Given the description of an element on the screen output the (x, y) to click on. 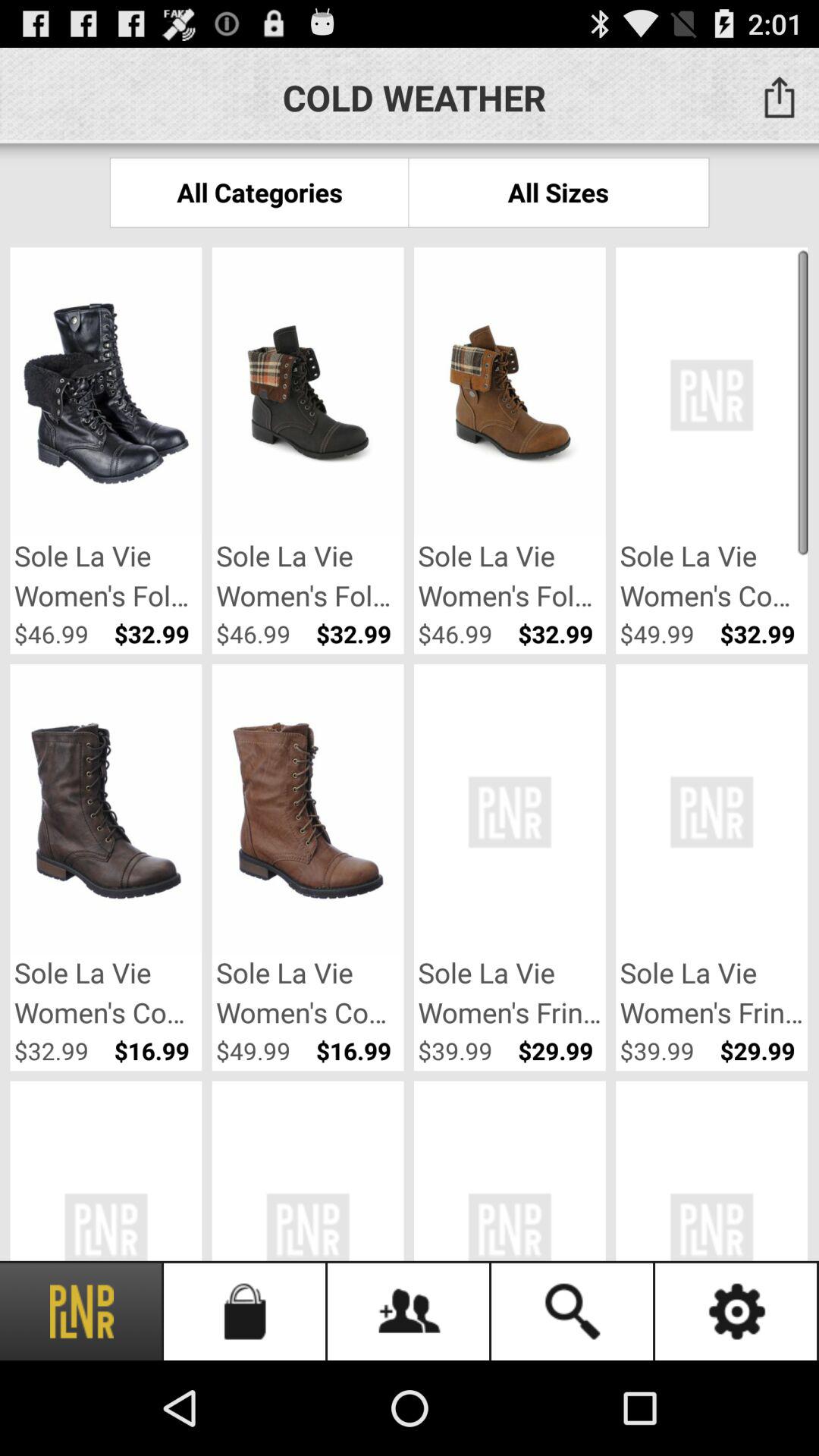
click the icon to the right of all categories icon (558, 192)
